Given the description of an element on the screen output the (x, y) to click on. 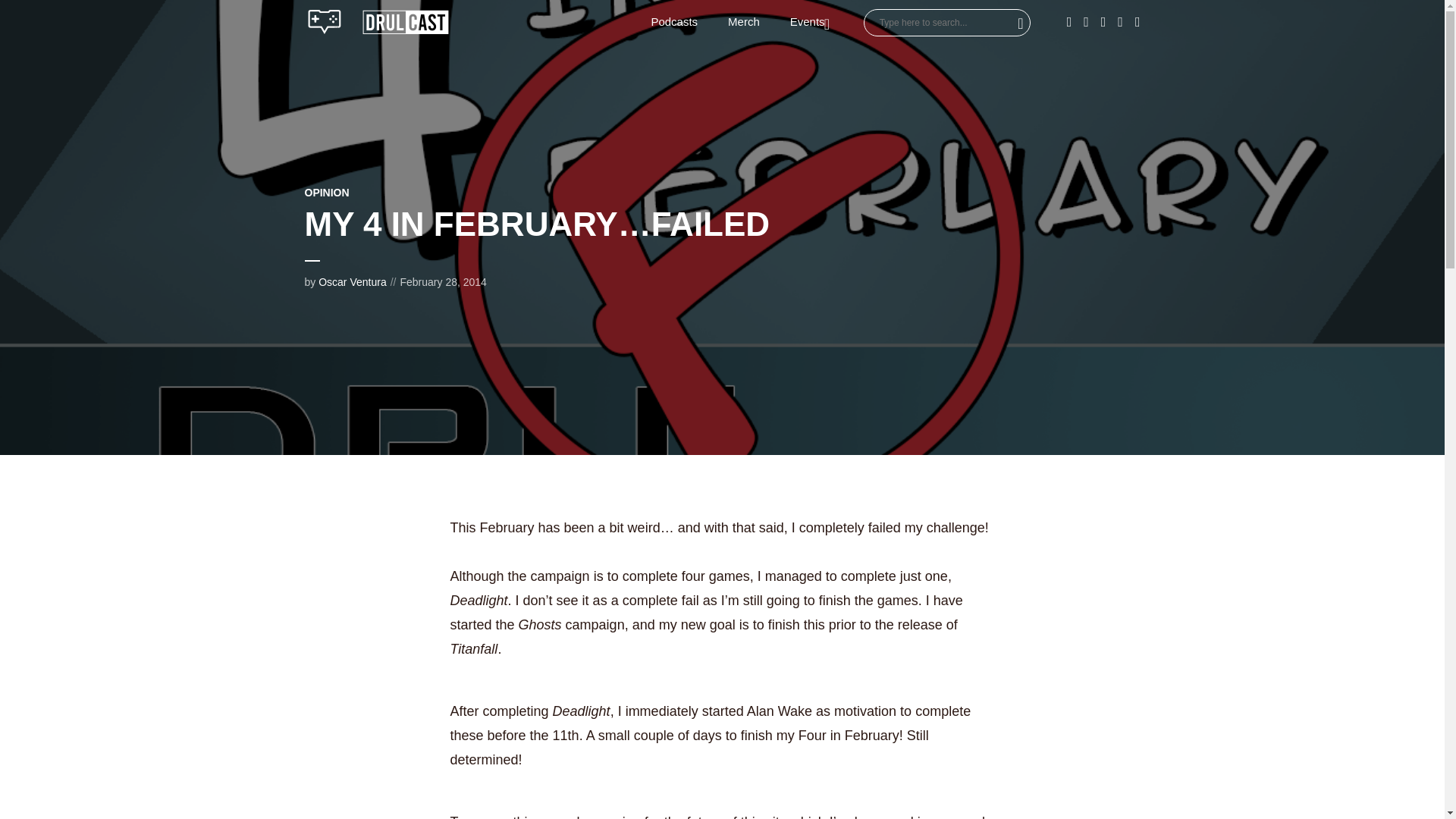
Oscar Ventura (352, 282)
SEARCH (1016, 22)
Podcasts (673, 21)
OPINION (326, 192)
Events (811, 21)
